Given the description of an element on the screen output the (x, y) to click on. 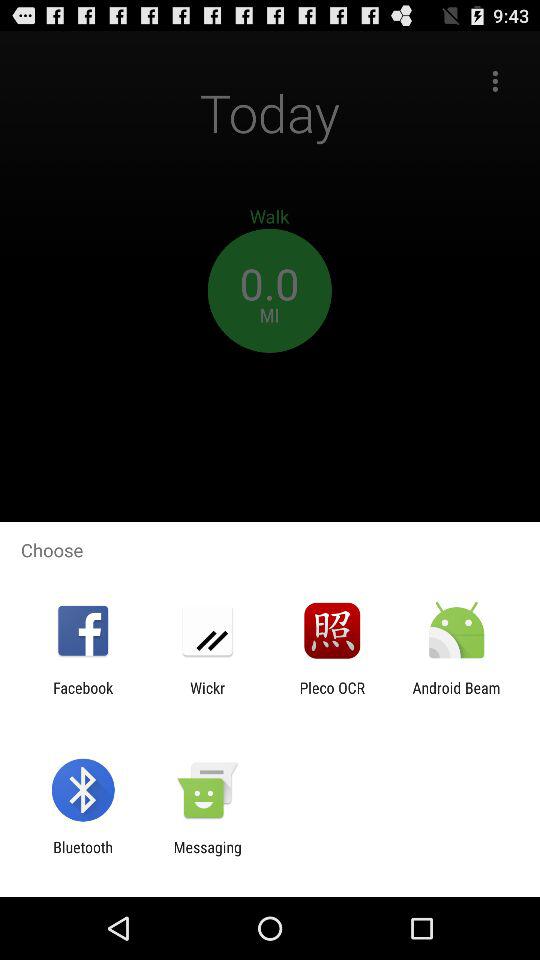
open the wickr (207, 696)
